Given the description of an element on the screen output the (x, y) to click on. 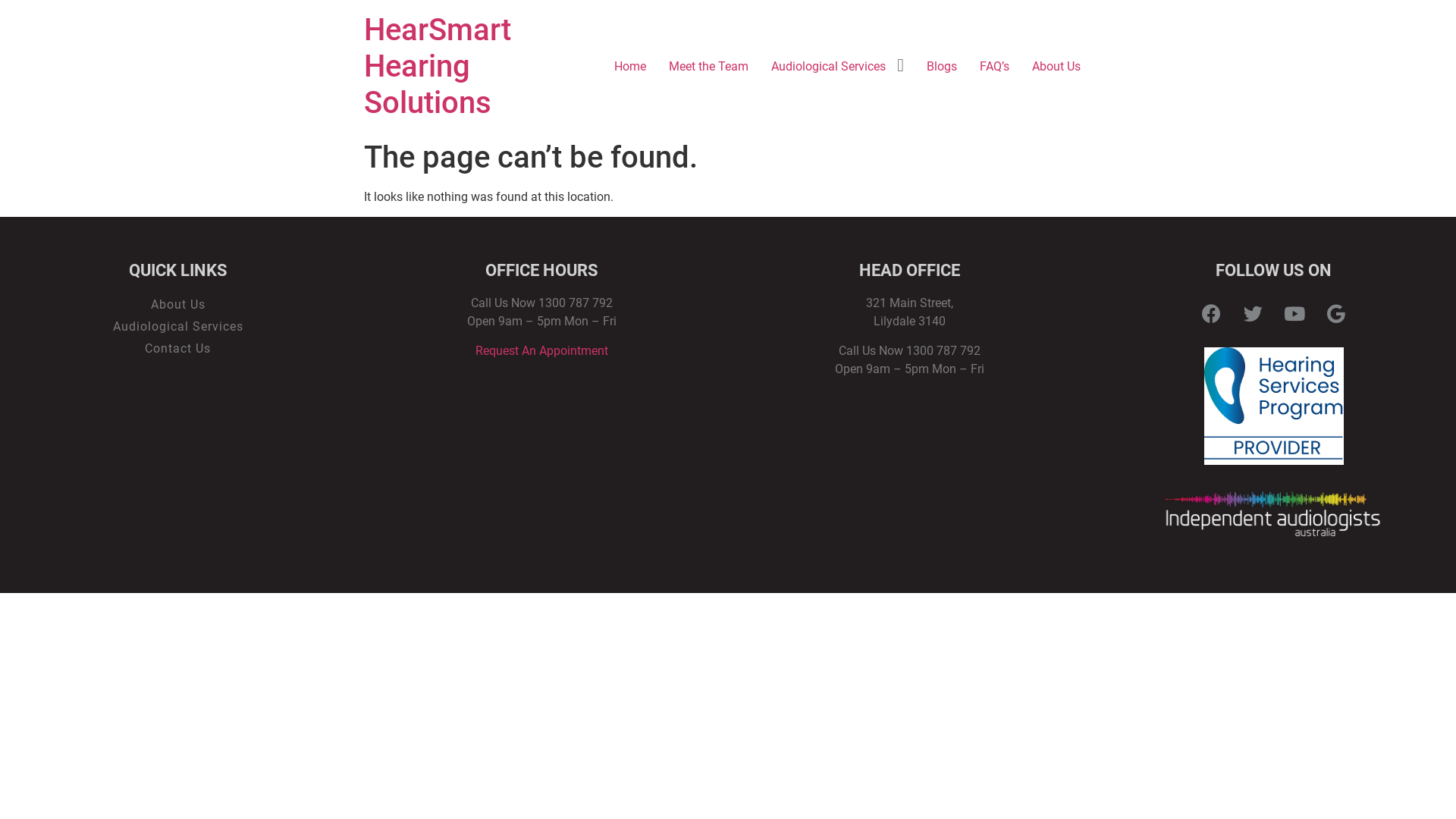
About Us Element type: text (1056, 66)
Blogs Element type: text (941, 66)
Home Element type: text (629, 66)
Audiological Services Element type: text (177, 327)
About Us Element type: text (177, 305)
Audiological Services Element type: text (828, 66)
Contact Us Element type: text (177, 349)
Meet the Team Element type: text (708, 66)
Request An Appointment Element type: text (541, 350)
HearSmart Hearing Solutions Element type: text (437, 66)
